Given the description of an element on the screen output the (x, y) to click on. 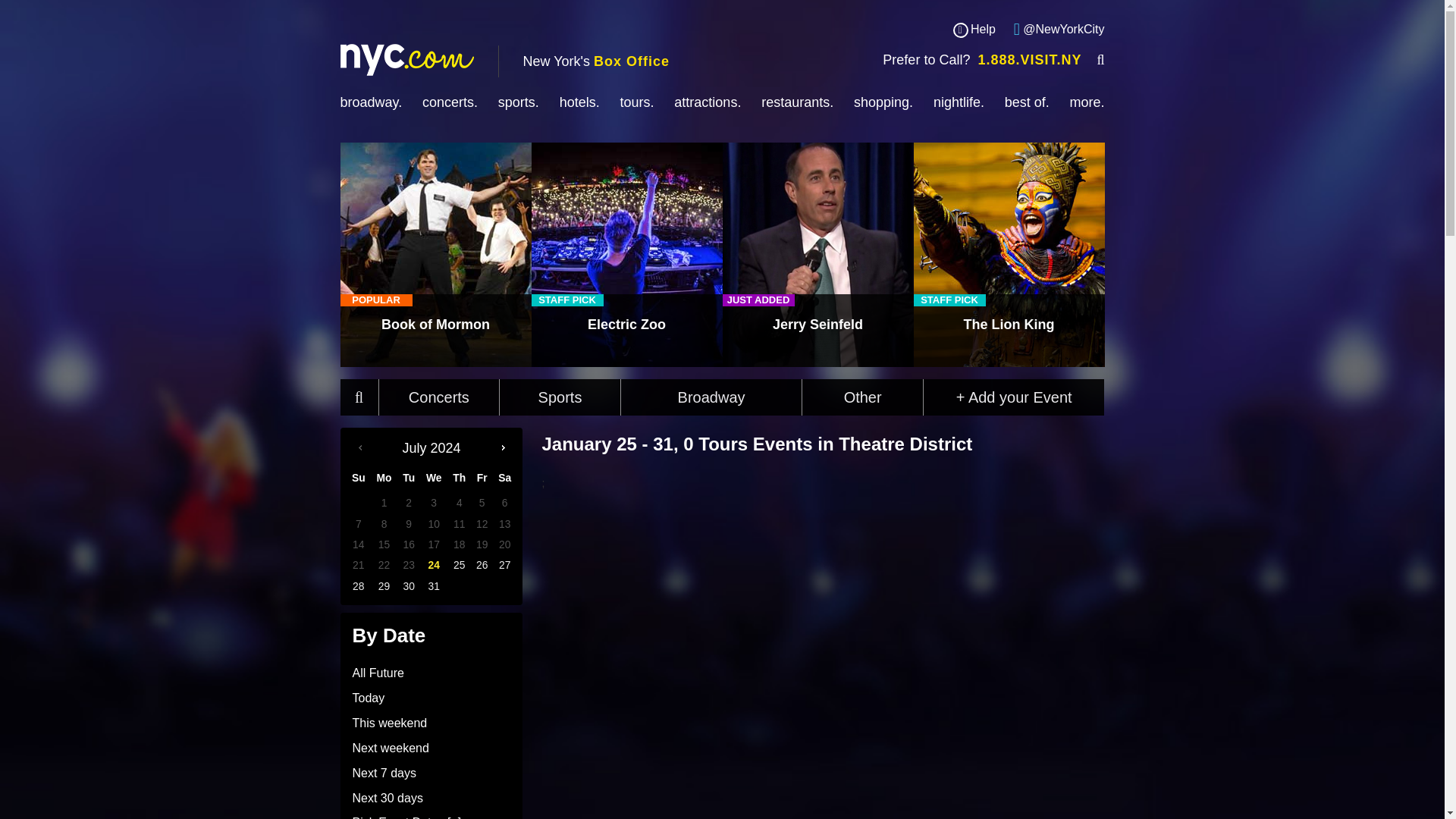
best of. (1026, 102)
concerts. (449, 102)
nightlife. (958, 102)
tours. (636, 102)
more. (1087, 102)
Monday (384, 477)
Tuesday (408, 477)
sports. (517, 102)
Help (984, 29)
restaurants. (796, 102)
shopping. (882, 102)
Prev (359, 446)
hotels. (579, 102)
Sunday (358, 477)
Thursday (458, 477)
